Given the description of an element on the screen output the (x, y) to click on. 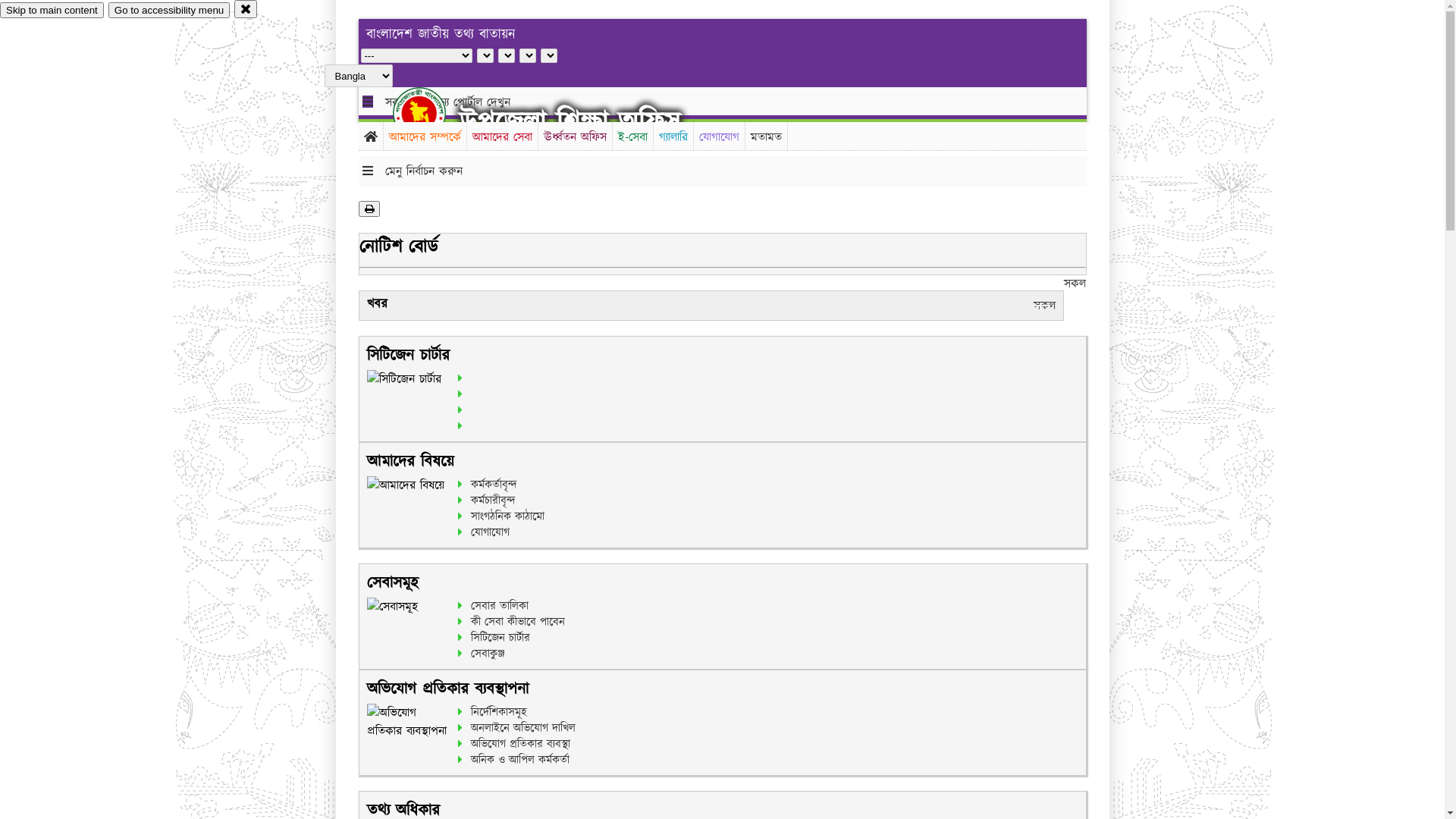

                
             Element type: hover (431, 112)
Go to accessibility menu Element type: text (168, 10)
Skip to main content Element type: text (51, 10)
close Element type: hover (245, 9)
